Given the description of an element on the screen output the (x, y) to click on. 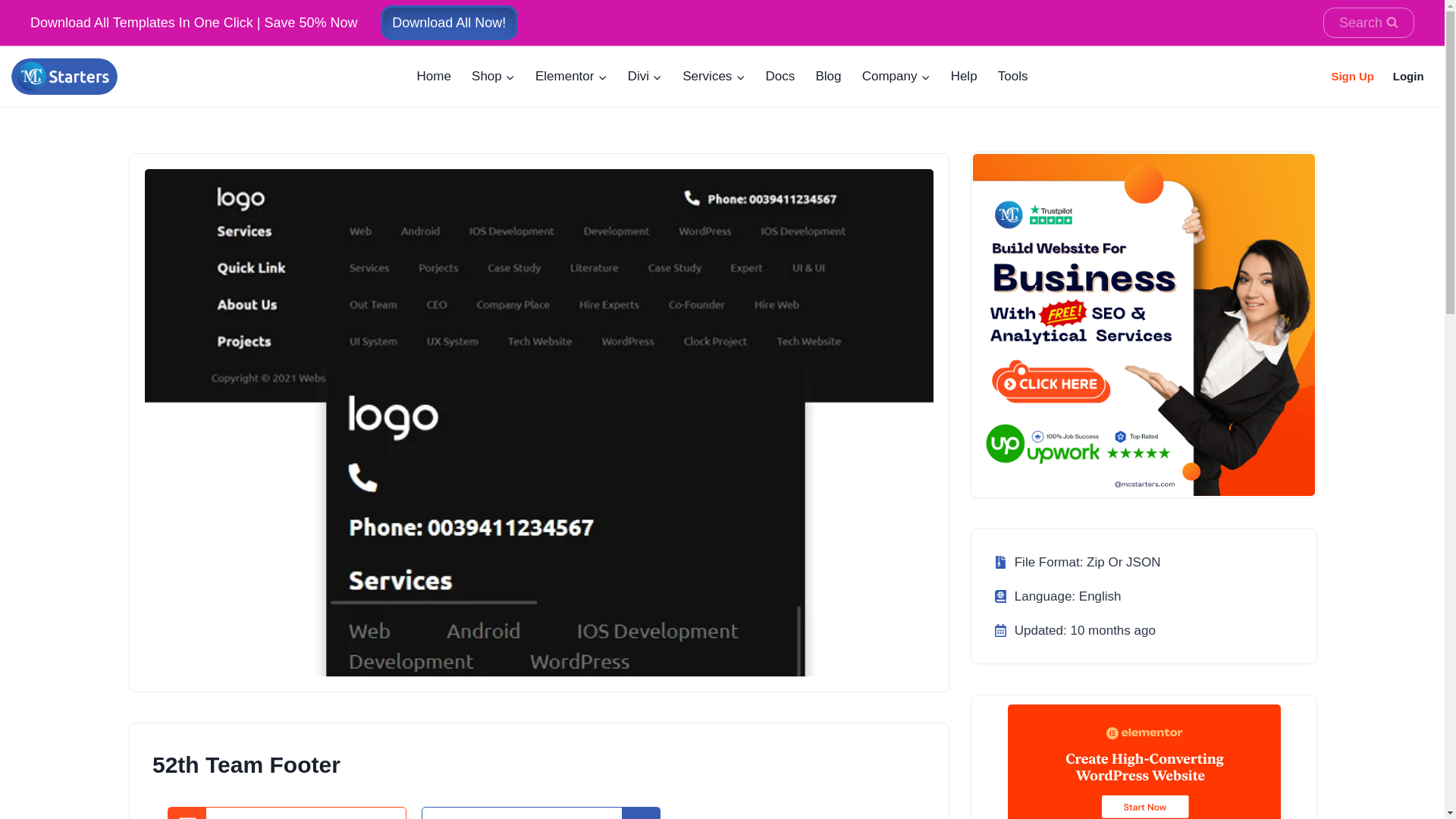
Services (713, 76)
Home (433, 76)
Search (1368, 22)
Company (895, 76)
Shop (492, 76)
Elementor (570, 76)
Divi (644, 76)
Download All Now! (449, 22)
